Given the description of an element on the screen output the (x, y) to click on. 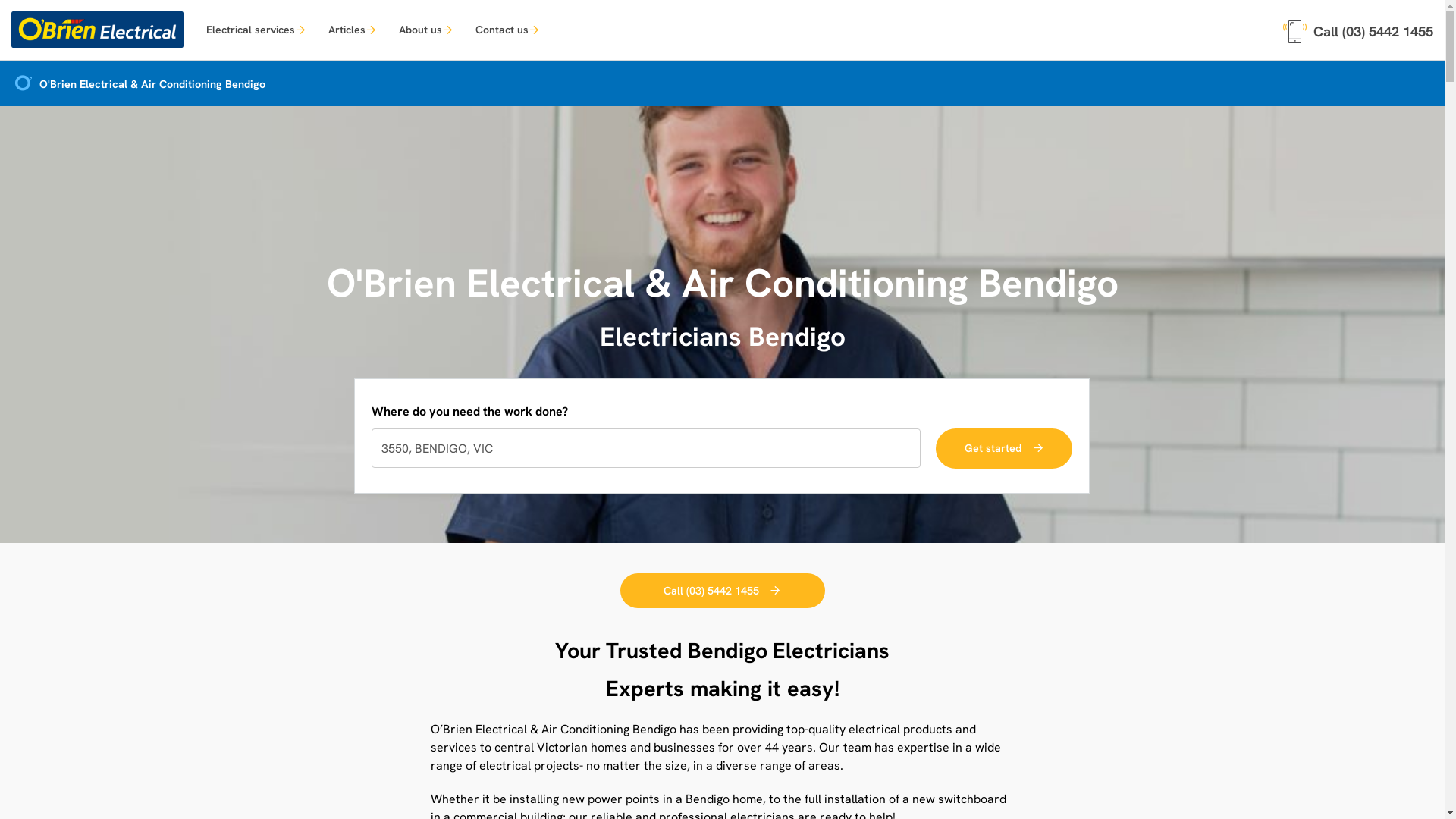
Call (03) 5442 1455 Element type: text (722, 590)
Call (03) 5442 1455 Element type: text (1358, 29)
Articles Element type: text (351, 28)
Contact us Element type: text (507, 28)
O'Brien Electrical & Air Conditioning Bendigo Element type: text (138, 84)
Get started Element type: text (1004, 448)
Electrical services Element type: text (255, 28)
About us Element type: text (425, 28)
